Given the description of an element on the screen output the (x, y) to click on. 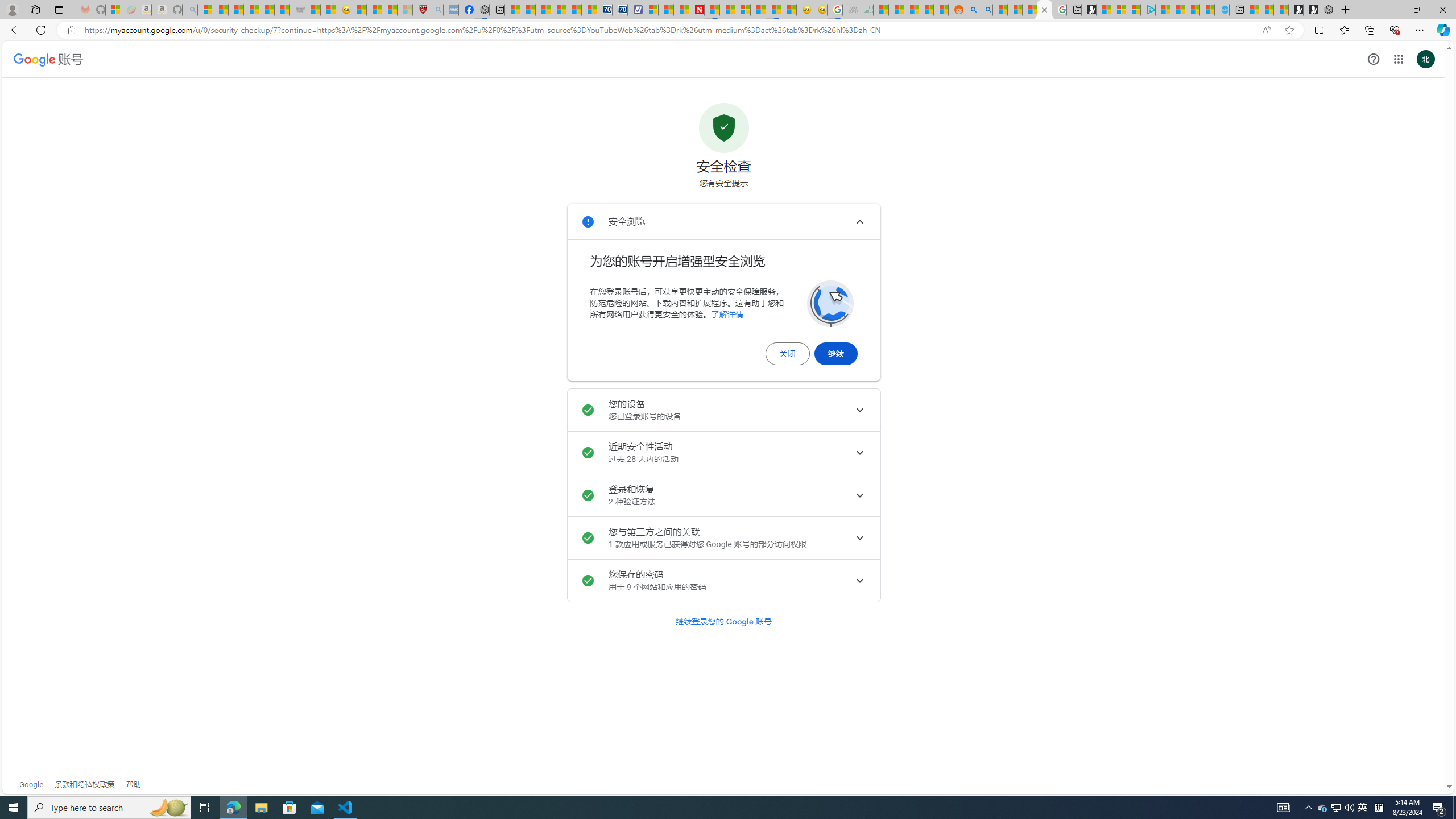
Class: gb_E (1398, 59)
